Given the description of an element on the screen output the (x, y) to click on. 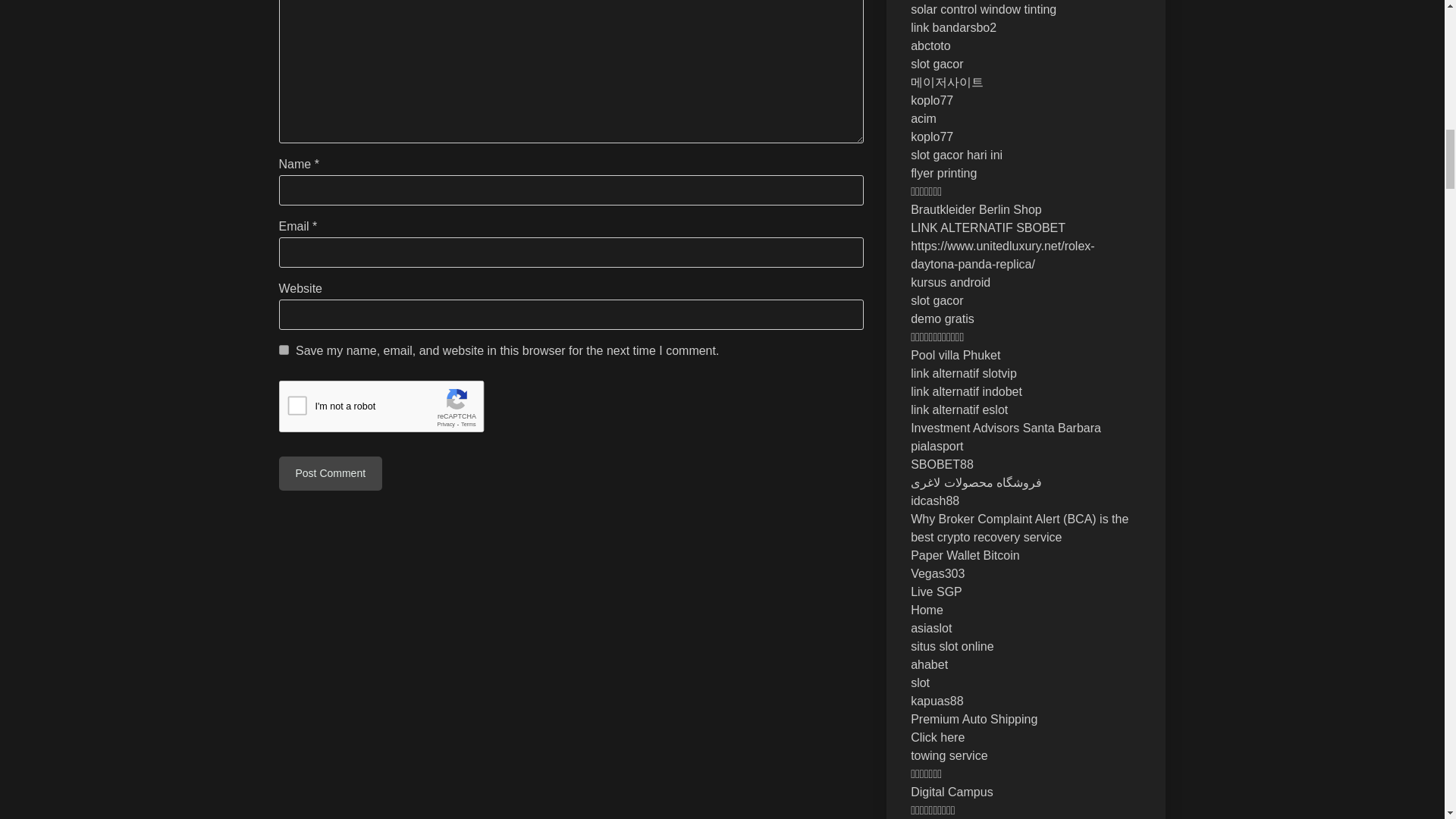
yes (283, 349)
Post Comment (330, 473)
Post Comment (330, 473)
reCAPTCHA (394, 409)
